Given the description of an element on the screen output the (x, y) to click on. 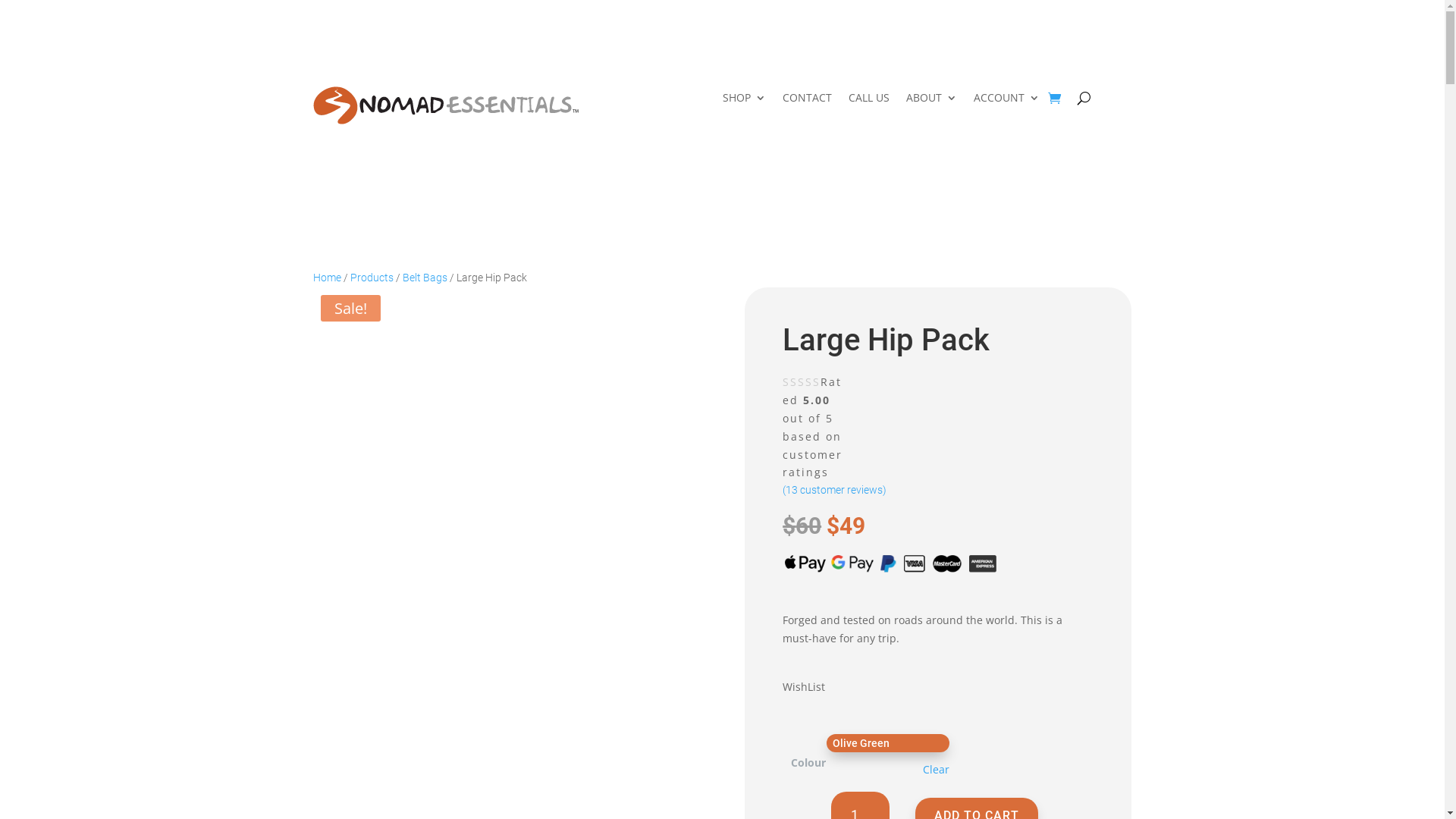
CONTACT Element type: text (806, 100)
CALL US Element type: text (867, 100)
All Payments Image - 3 Element type: hover (891, 562)
SHOP Element type: text (743, 100)
Home Element type: text (326, 277)
Products Element type: text (371, 277)
ACCOUNT Element type: text (1006, 100)
(13 customer reviews) Element type: text (937, 490)
Belt Bags Element type: text (423, 277)
Clear Element type: text (935, 769)
ABOUT Element type: text (930, 100)
